Given the description of an element on the screen output the (x, y) to click on. 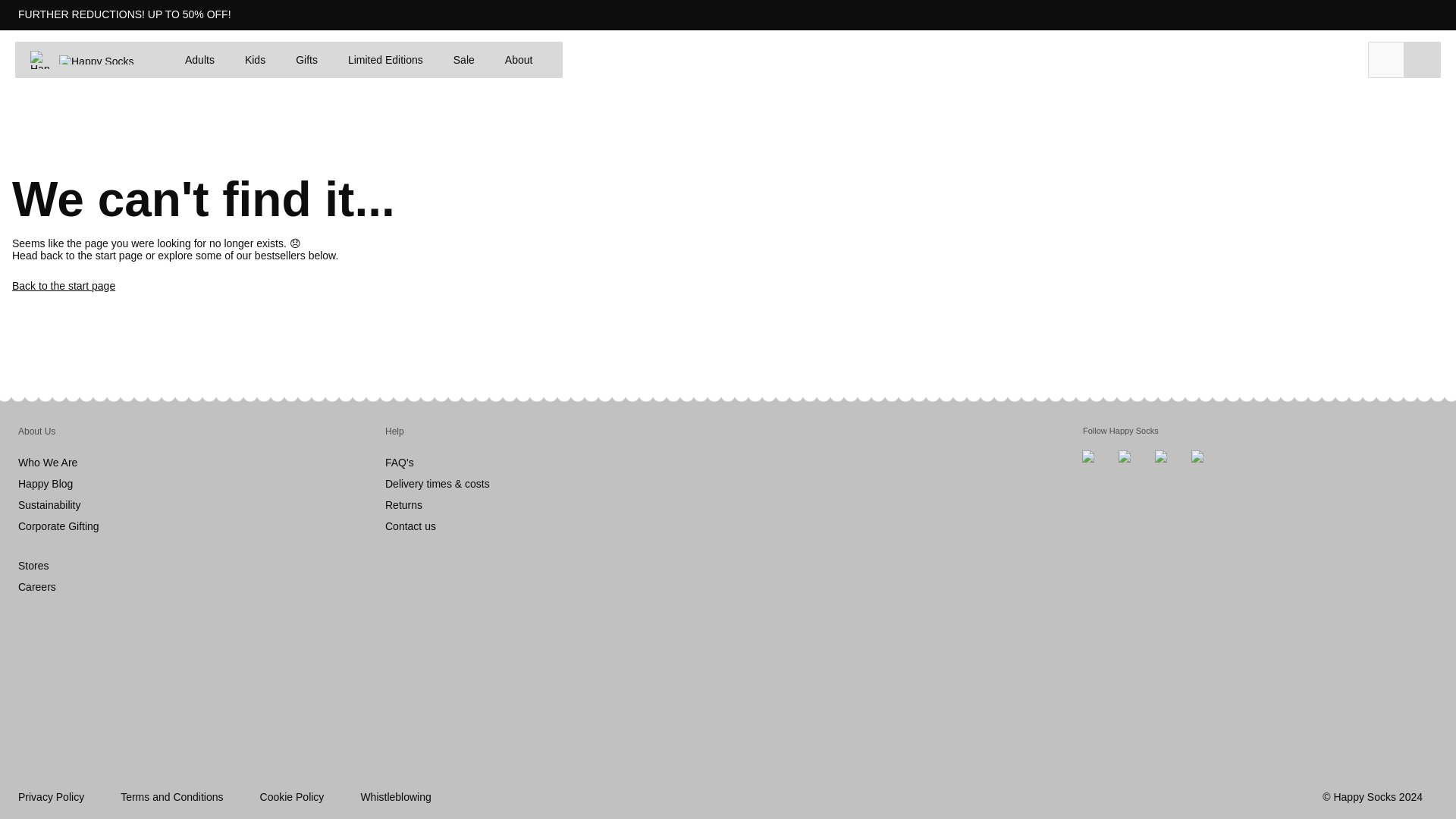
Happy Blog (44, 483)
FAQ's (399, 462)
Careers (36, 586)
About (518, 59)
Stores (32, 565)
Contact us (410, 526)
Gifts (307, 59)
Limited Editions (385, 59)
Sale (463, 59)
Who We Are (47, 462)
Corporate Gifting (58, 526)
Sustainability (49, 504)
Kids (255, 59)
Adults (200, 59)
